Given the description of an element on the screen output the (x, y) to click on. 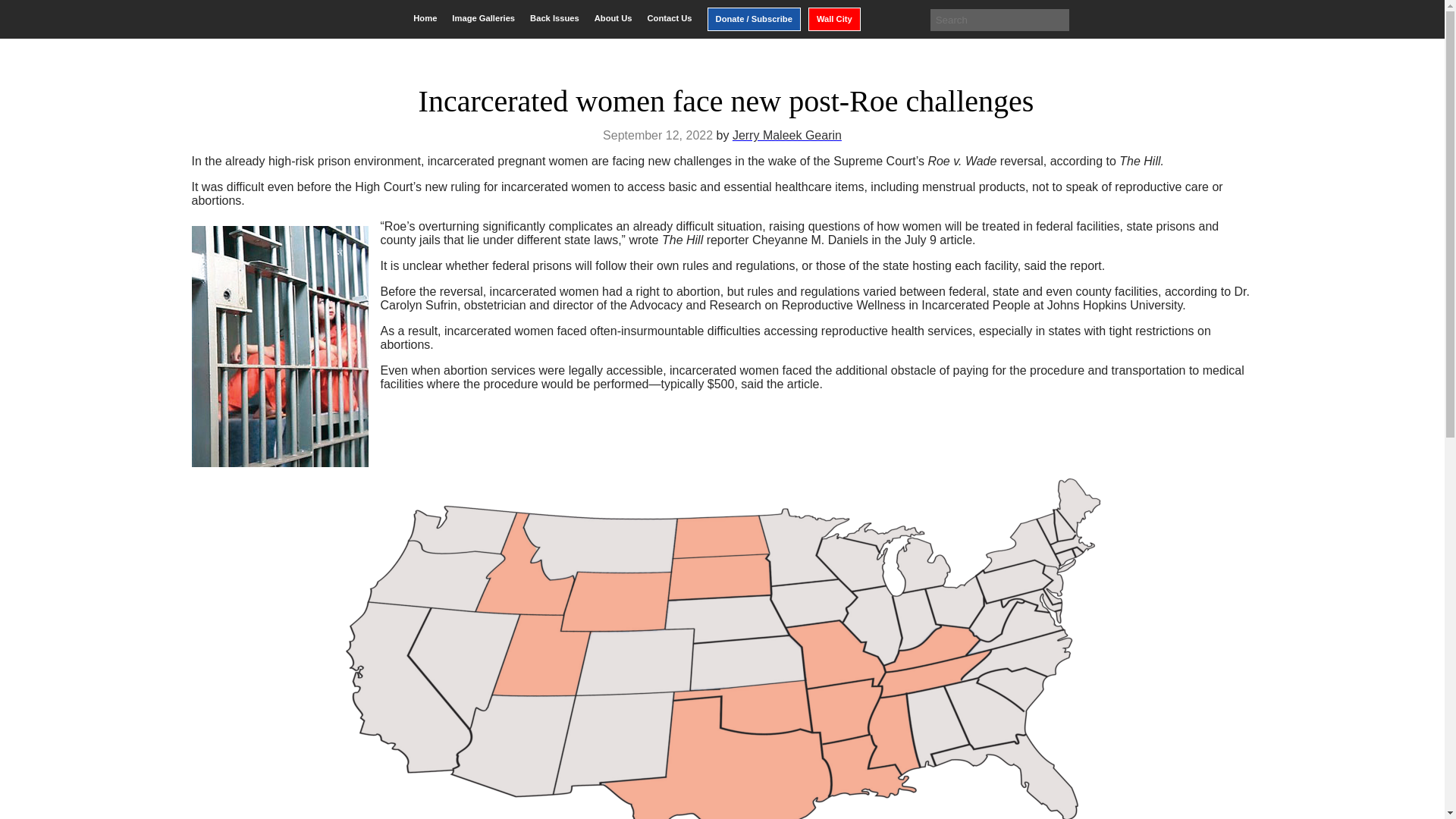
Search (22, 12)
Jerry Maleek Gearin (786, 134)
Home (424, 17)
Contact Us (668, 17)
Image Galleries (483, 17)
About Us (612, 17)
Wall City (833, 18)
Back Issues (554, 17)
